Given the description of an element on the screen output the (x, y) to click on. 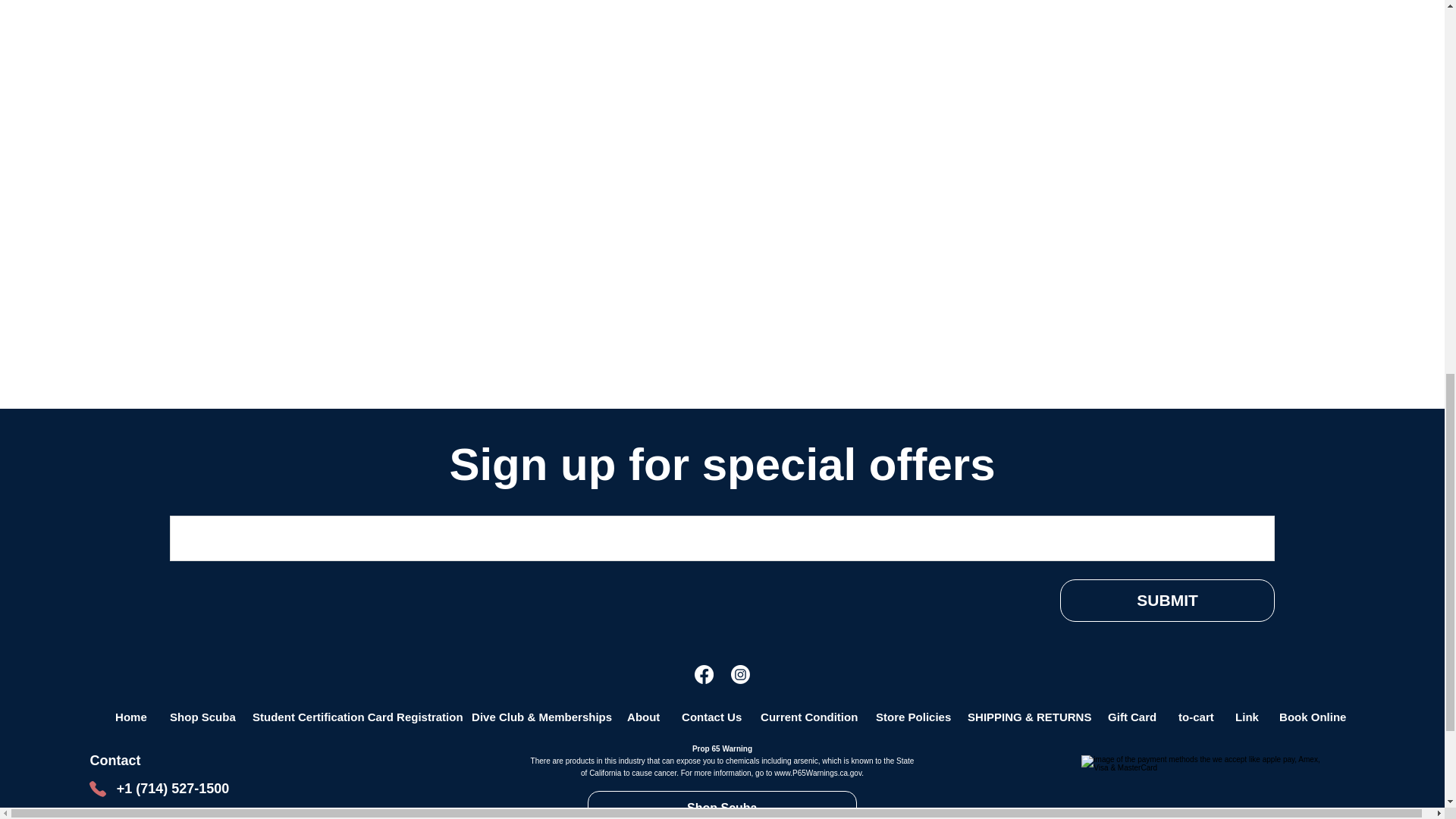
Contact Us (708, 716)
Gift Card (1131, 716)
Book Online (1310, 716)
Home (130, 716)
SUBMIT (1167, 600)
www.P65Warnings.ca.gov (817, 773)
to-cart (1194, 716)
Current Condition (805, 716)
About (641, 716)
Student Certification Card Registration (350, 716)
Store Policies (909, 716)
Link (1244, 716)
Shop Scuba (722, 805)
Shop Scuba (198, 716)
